Given the description of an element on the screen output the (x, y) to click on. 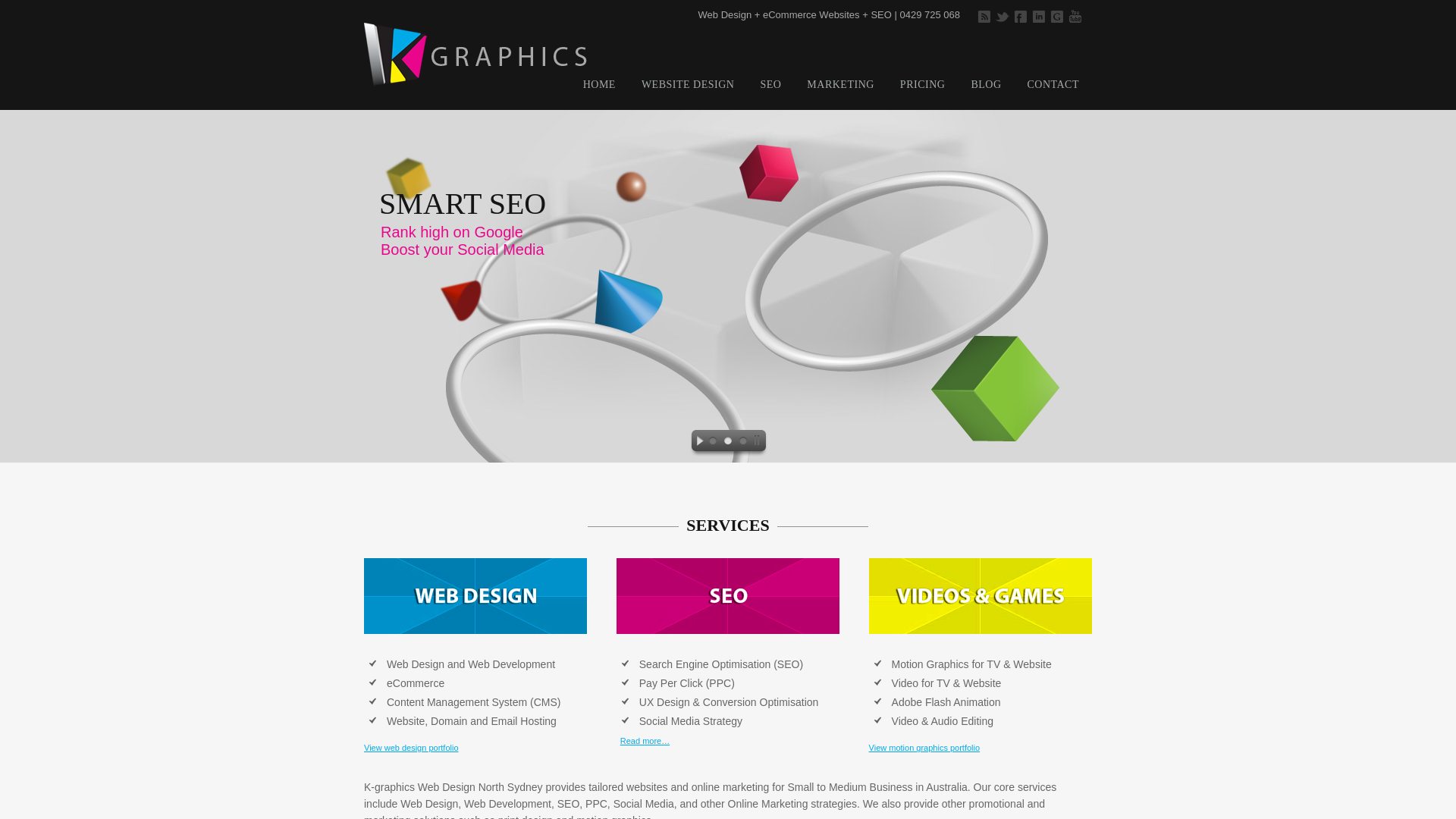
PRICING Element type: text (922, 88)
Motion Graphics Company Sydney North Shore Element type: hover (980, 595)
Web Design Company Sydney North Shore Element type: hover (475, 595)
SEO Company Sydney North Shore Element type: hover (727, 595)
MARKETING Element type: text (840, 88)
HOME Element type: text (599, 88)
View web design portfolio Element type: text (411, 747)
BLOG Element type: text (985, 88)
SEO Element type: text (770, 88)
View motion graphics portfolio Element type: text (924, 747)
WEBSITE DESIGN Element type: text (688, 88)
CONTACT Element type: text (1052, 88)
